Given the description of an element on the screen output the (x, y) to click on. 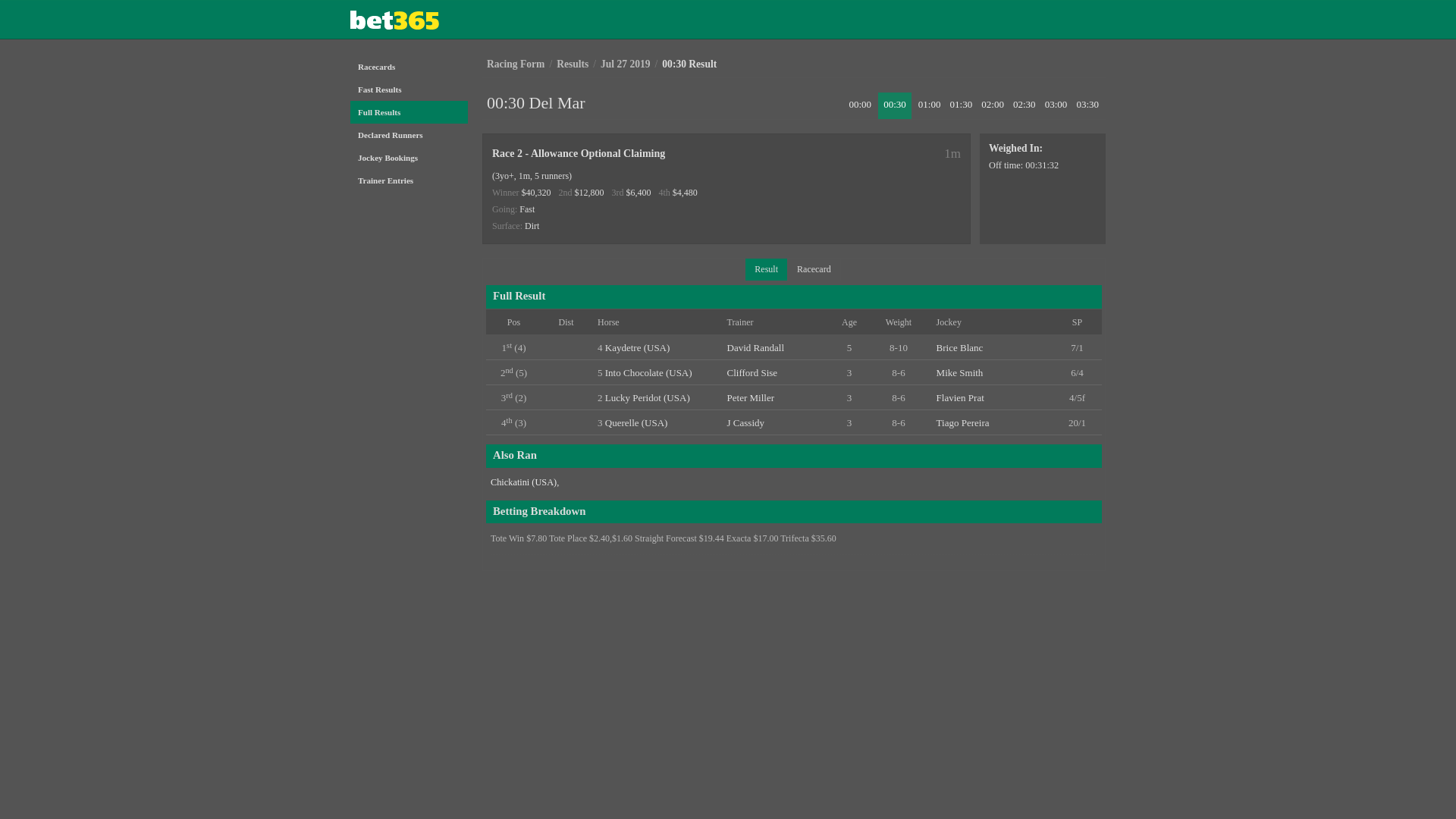
Racing Form Element type: text (515, 63)
02:00 Element type: text (992, 106)
Result Element type: text (766, 269)
01:30 Element type: text (961, 106)
Bet365 Element type: text (417, 19)
Lucky Peridot (USA) Element type: text (647, 397)
03:00 Element type: text (1056, 106)
Full Results Element type: text (408, 111)
Trainer Entries Element type: text (408, 180)
Fast Results Element type: text (408, 89)
David Randall Element type: text (755, 347)
Brice Blanc Element type: text (959, 347)
01:00 Element type: text (929, 106)
03:30 Element type: text (1087, 106)
Declared Runners Element type: text (408, 134)
Jockey Bookings Element type: text (408, 157)
Chickatini (USA) Element type: text (523, 481)
Querelle (USA) Element type: text (636, 422)
00:30 Element type: text (894, 106)
Kaydetre (USA) Element type: text (637, 347)
Into Chocolate (USA) Element type: text (648, 372)
Tiago Pereira Element type: text (962, 422)
Flavien Prat Element type: text (960, 397)
Results Element type: text (572, 63)
02:30 Element type: text (1024, 106)
Mike Smith Element type: text (959, 372)
00:00 Element type: text (859, 106)
Jul 27 2019 Element type: text (625, 63)
Peter Miller Element type: text (750, 397)
Racecard Element type: text (813, 269)
J Cassidy Element type: text (745, 422)
Clifford Sise Element type: text (752, 372)
Racecards Element type: text (408, 66)
